Given the description of an element on the screen output the (x, y) to click on. 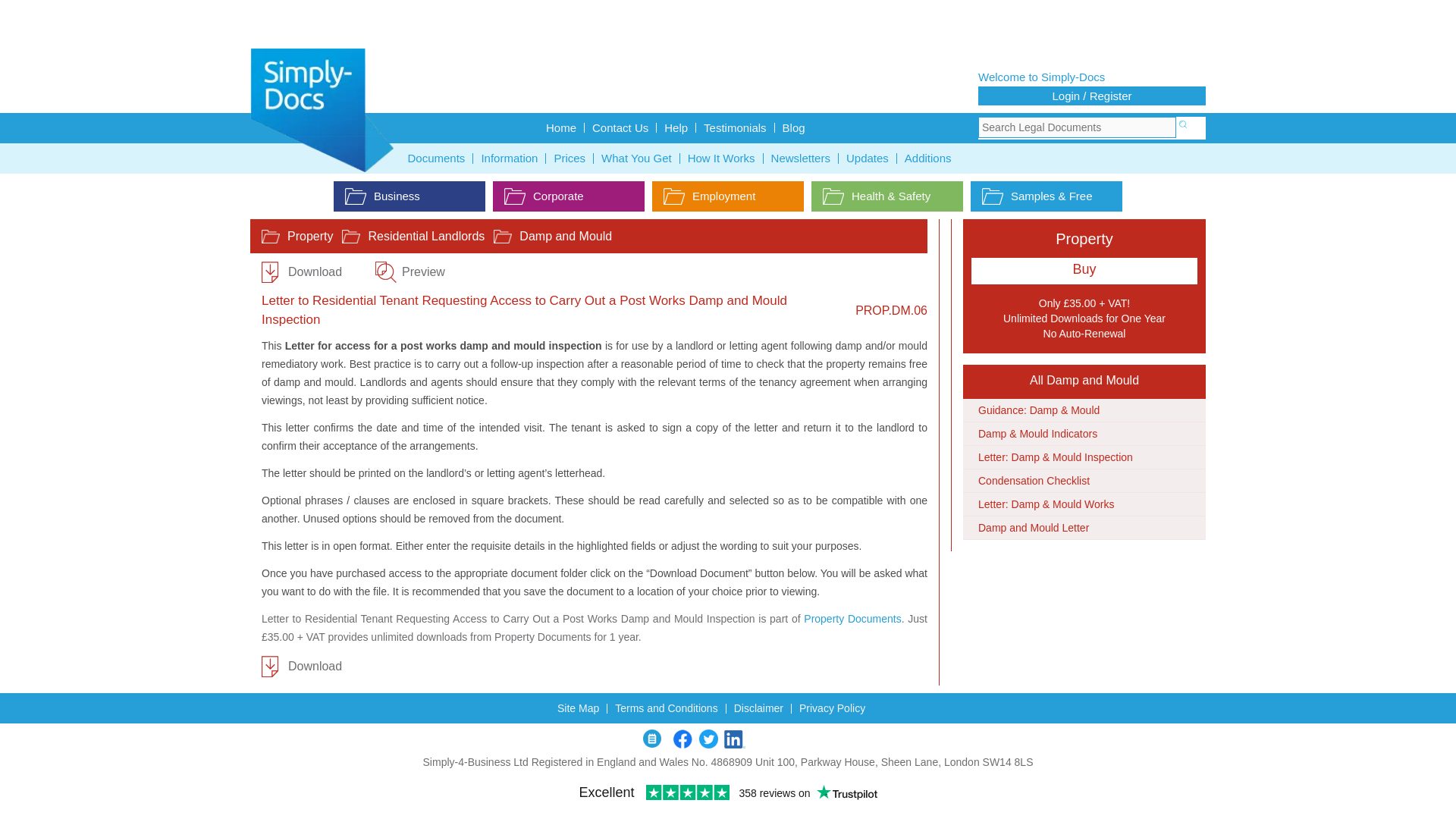
Documents (437, 158)
Home (561, 127)
Help (675, 127)
Contact Us (620, 127)
Customer reviews powered by Trustpilot (727, 25)
Testimonials (734, 127)
Blog (793, 127)
